Given the description of an element on the screen output the (x, y) to click on. 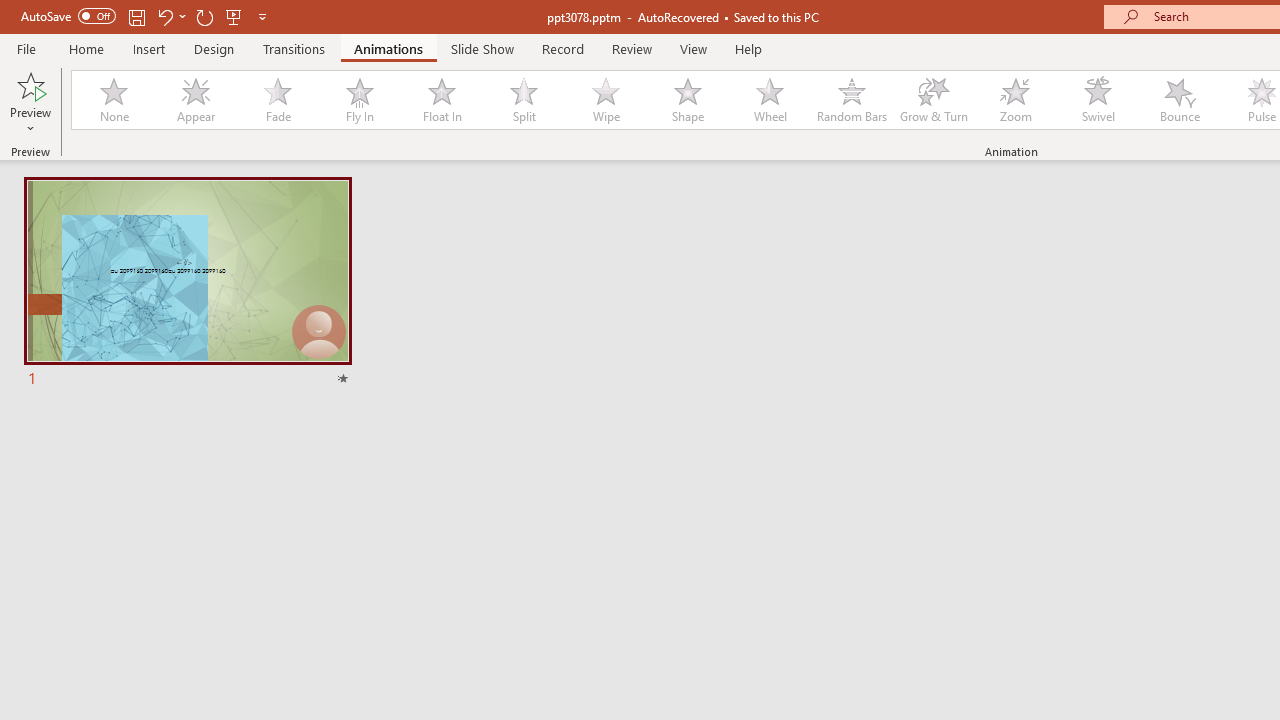
Wheel (770, 100)
Grow & Turn (934, 100)
